Given the description of an element on the screen output the (x, y) to click on. 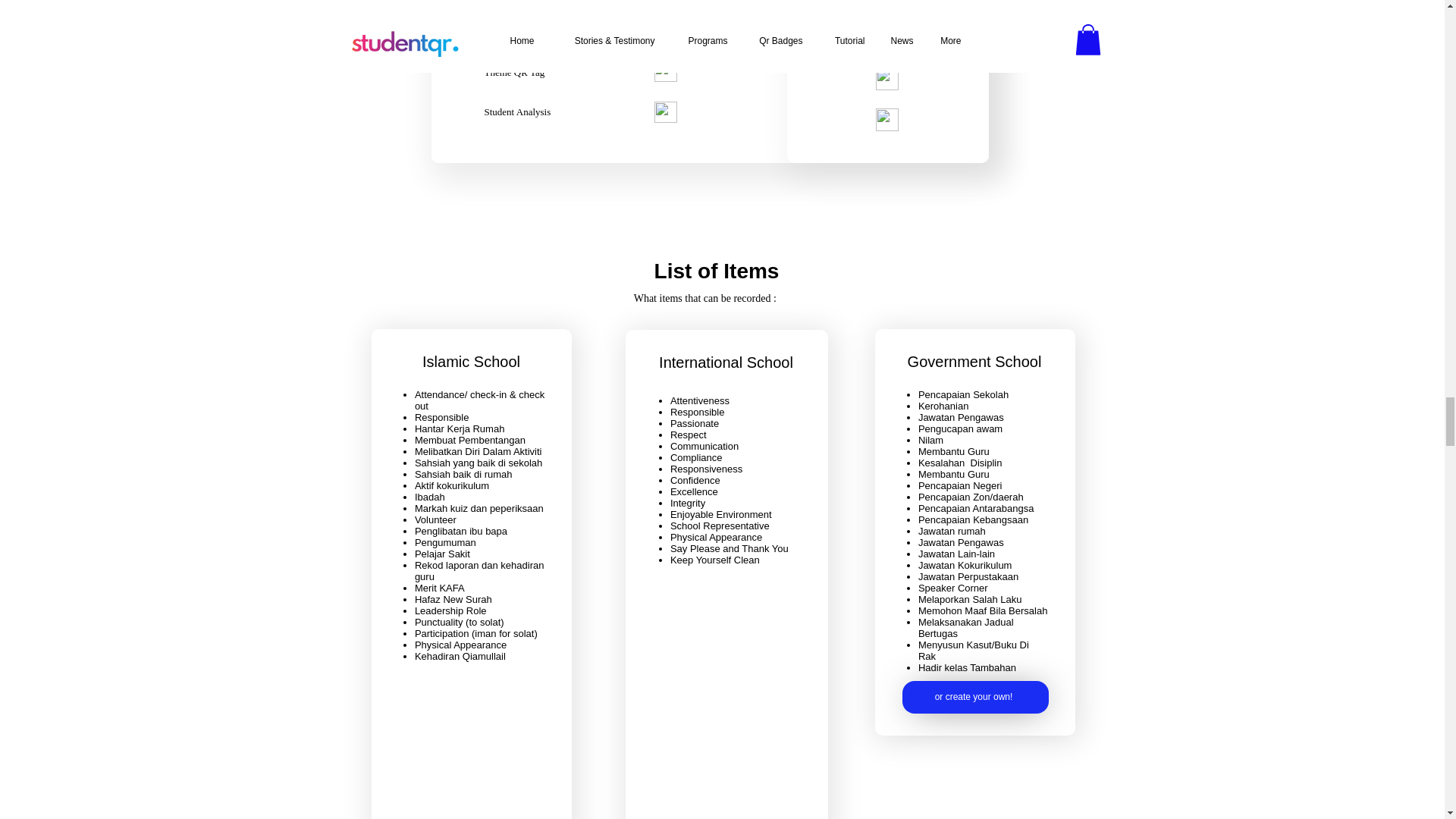
tick.png (886, 4)
tick.png (886, 78)
tick.png (886, 119)
or create your own! (975, 696)
tick.png (886, 39)
